Given the description of an element on the screen output the (x, y) to click on. 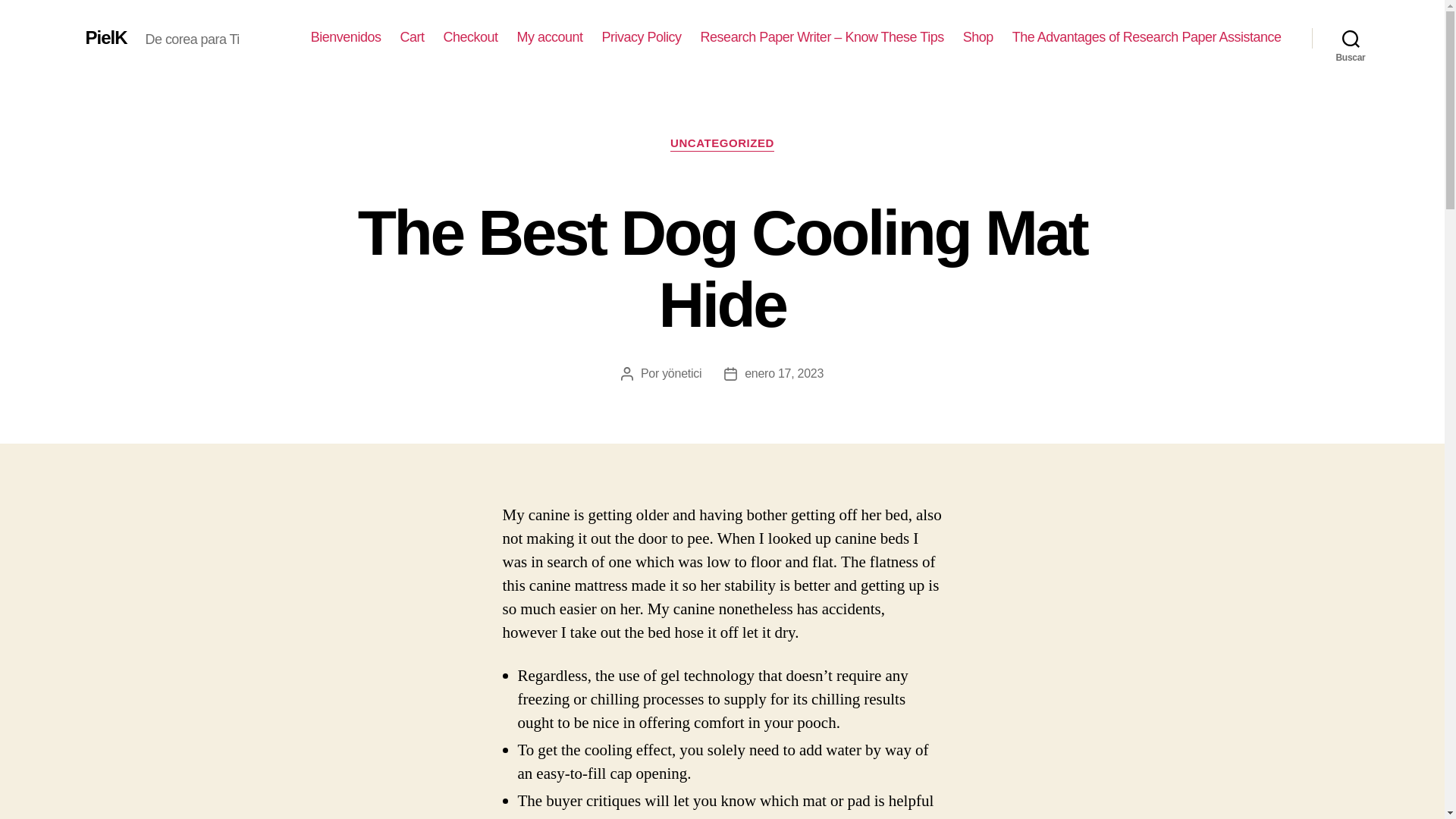
The Advantages of Research Paper Assistance (1146, 37)
PielK (105, 37)
My account (549, 37)
UNCATEGORIZED (721, 143)
Bienvenidos (346, 37)
Cart (410, 37)
Buscar (1350, 37)
Checkout (469, 37)
Shop (977, 37)
enero 17, 2023 (784, 373)
